Given the description of an element on the screen output the (x, y) to click on. 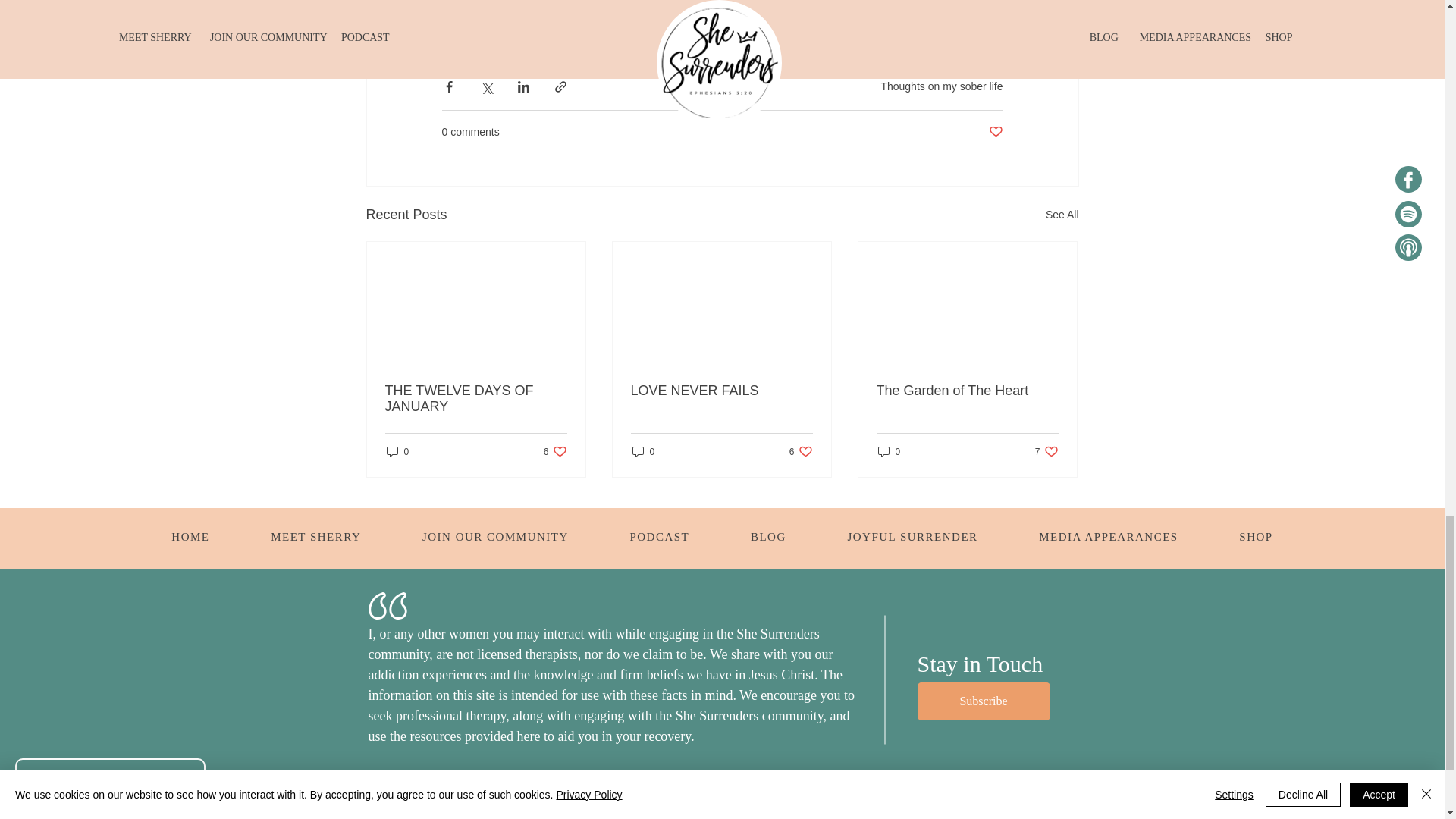
LOVE NEVER FAILS (721, 390)
THE TWELVE DAYS OF JANUARY (476, 398)
The Garden of The Heart (555, 451)
HOME (967, 390)
See All (190, 537)
0 (1061, 214)
MEET SHERRY (397, 451)
Thoughts on my sober life (315, 537)
0 (1046, 451)
0 (941, 86)
Post not marked as liked (800, 451)
